Given the description of an element on the screen output the (x, y) to click on. 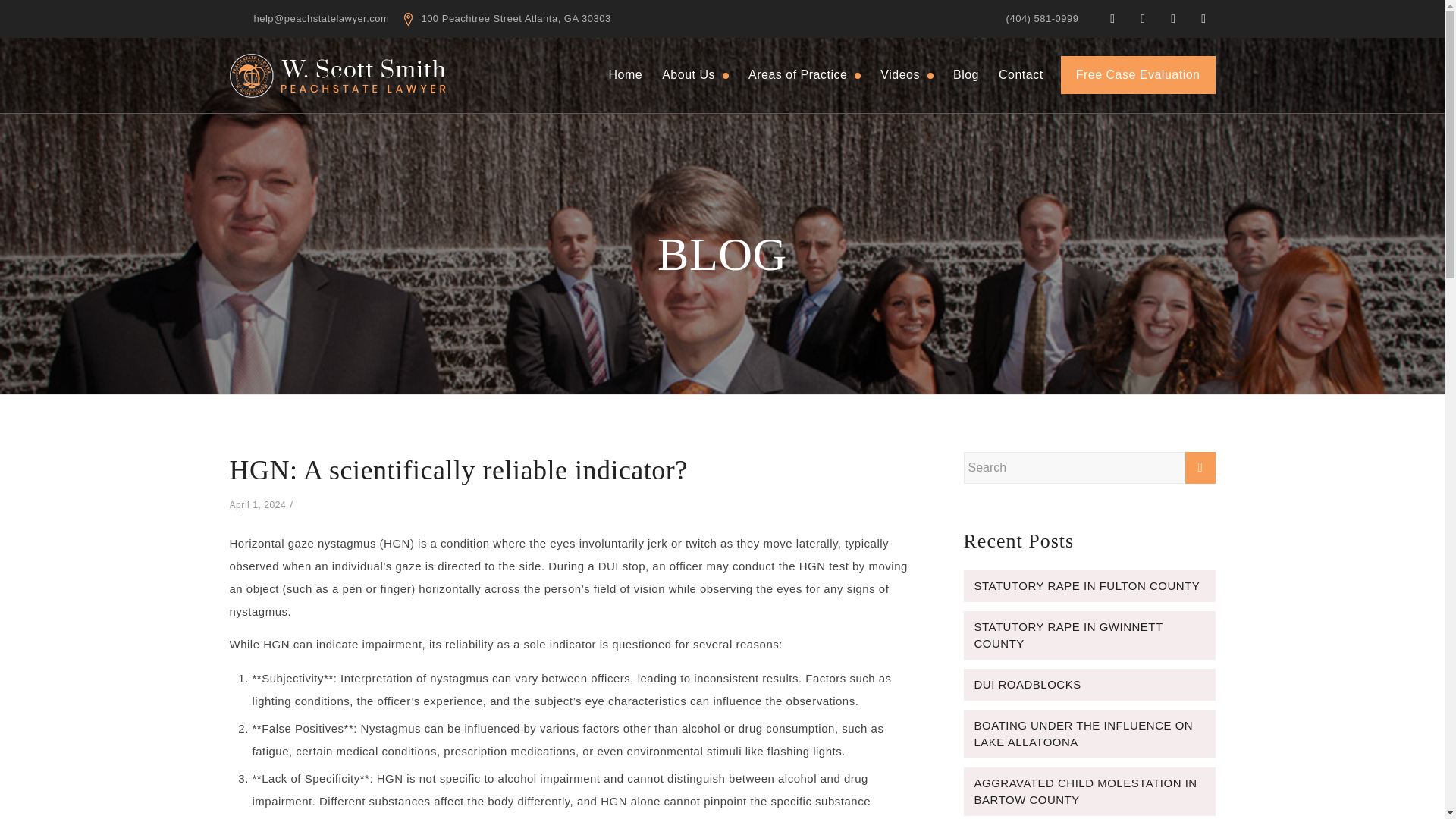
Free Case Evaluation (1138, 75)
Facebook (1112, 18)
Twitter (1142, 18)
Videos (906, 74)
Permanent Link: Blog (722, 254)
About Us (695, 74)
Permanent Link: HGN: A scientifically reliable indicator? (457, 470)
Youtube (1203, 18)
HGN: A scientifically reliable indicator? (457, 470)
LinkedIn (1173, 18)
Areas of Practice (804, 74)
BLOG (722, 254)
100 Peachtree Street Atlanta, GA 30303 (507, 18)
